Given the description of an element on the screen output the (x, y) to click on. 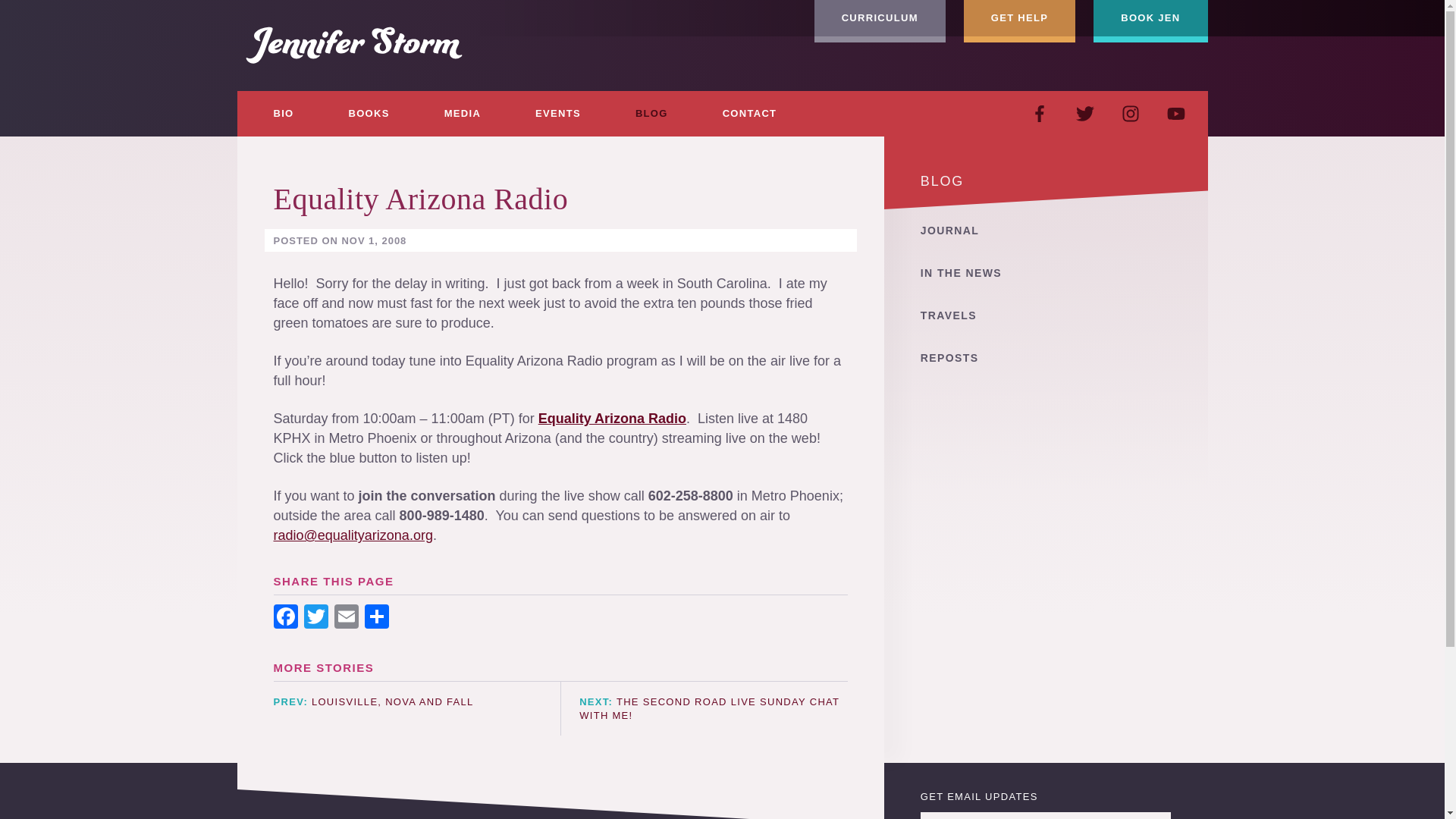
MEDIA (462, 113)
BLOG (651, 113)
BOOK JEN (1150, 21)
CONTACT (750, 113)
TRAVELS (1045, 315)
Skip to content (45, 8)
Facebook (284, 618)
Facebook (284, 618)
REPOSTS (1045, 357)
Follow me on Twitter (1083, 113)
Like me on Facebook (1038, 113)
IN THE NEWS (1045, 272)
Radio (665, 418)
Twitter (314, 618)
EVENTS (558, 113)
